Given the description of an element on the screen output the (x, y) to click on. 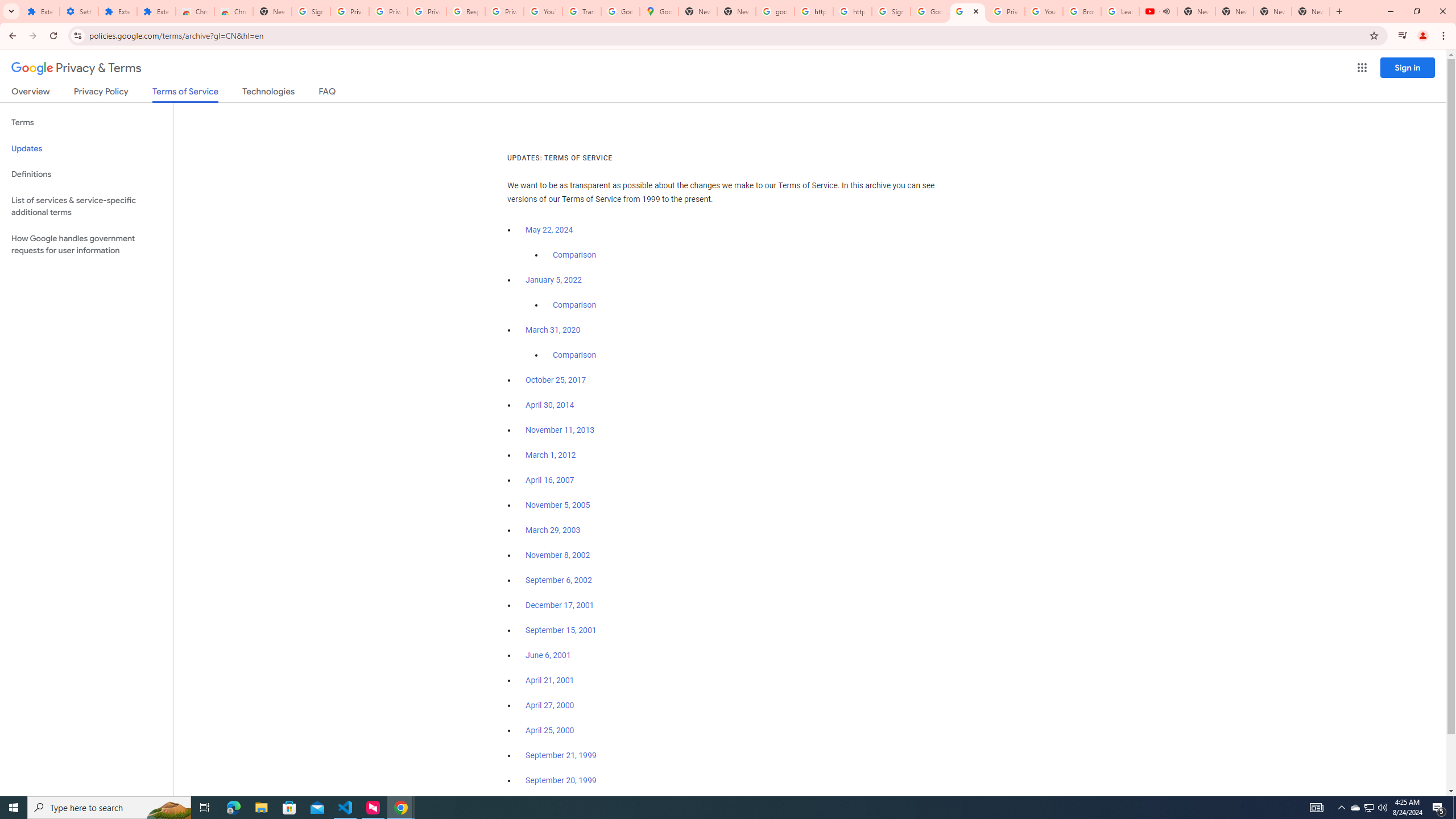
April 25, 2000 (550, 729)
New Tab (1311, 11)
Comparison (574, 355)
Chrome Web Store - Themes (233, 11)
September 15, 2001 (560, 629)
March 31, 2020 (552, 330)
October 25, 2017 (555, 380)
April 30, 2014 (550, 405)
June 6, 2001 (547, 655)
